Given the description of an element on the screen output the (x, y) to click on. 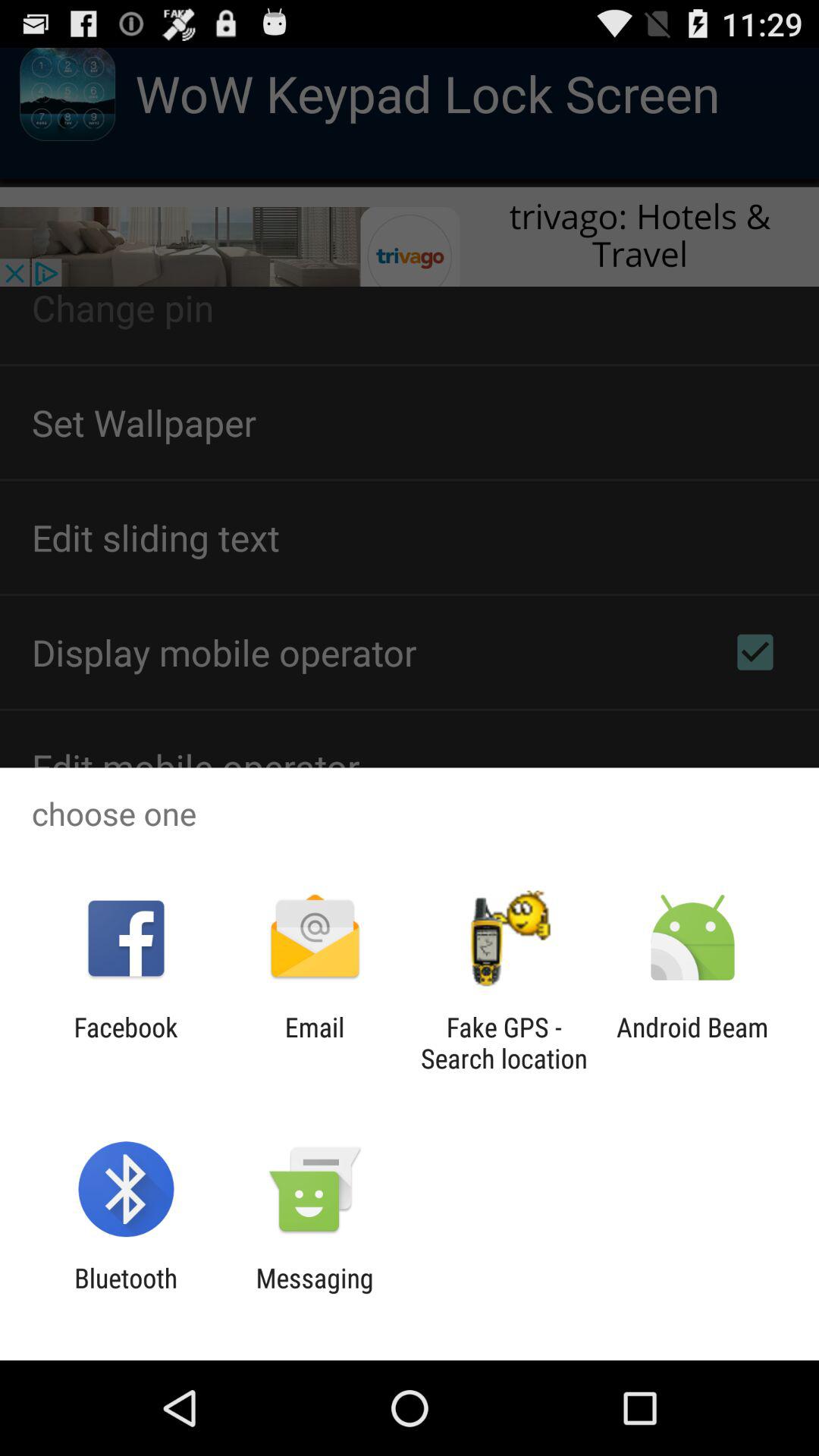
select the app to the left of messaging item (125, 1293)
